Given the description of an element on the screen output the (x, y) to click on. 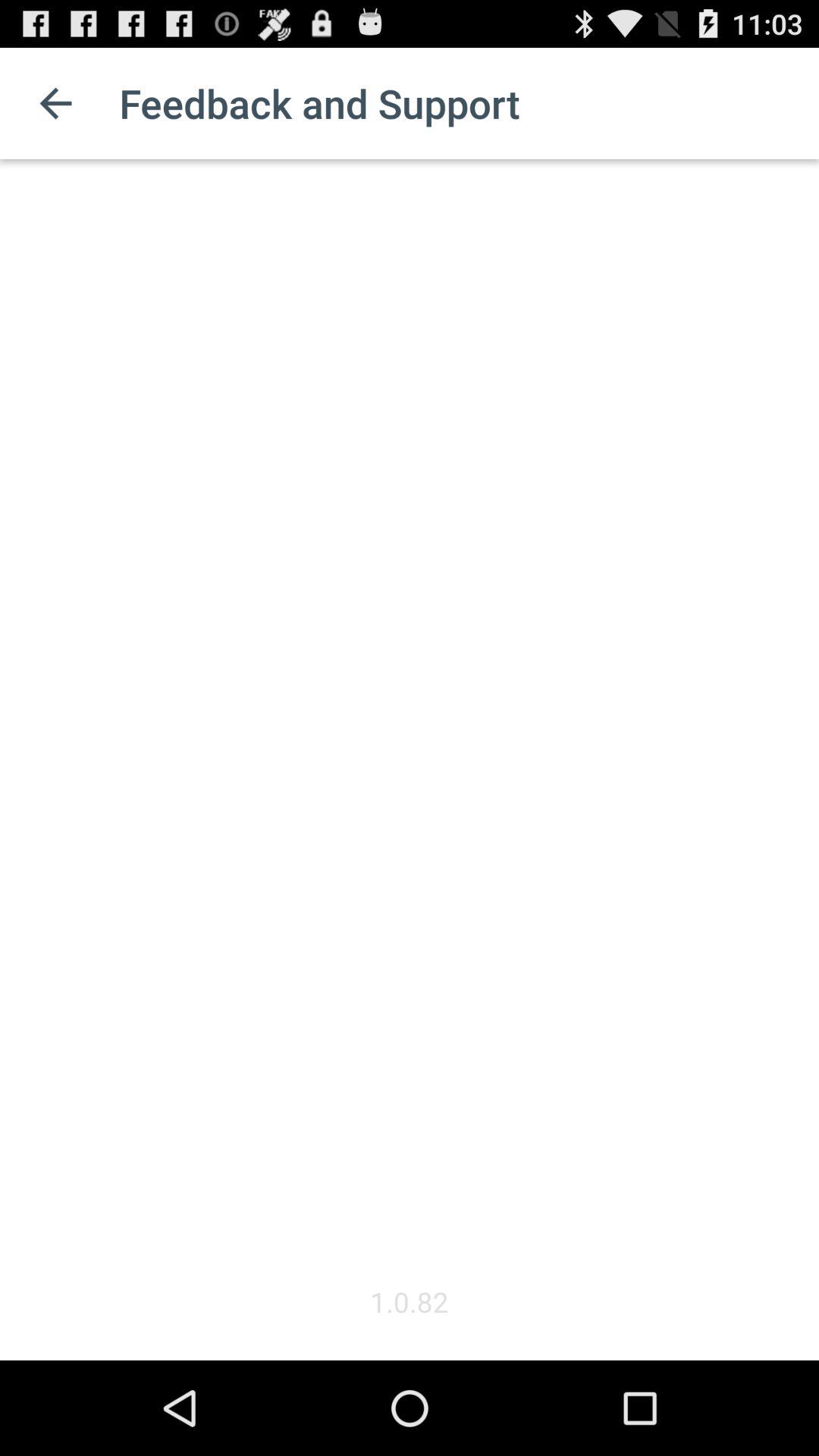
tap the app next to the feedback and support app (55, 103)
